Given the description of an element on the screen output the (x, y) to click on. 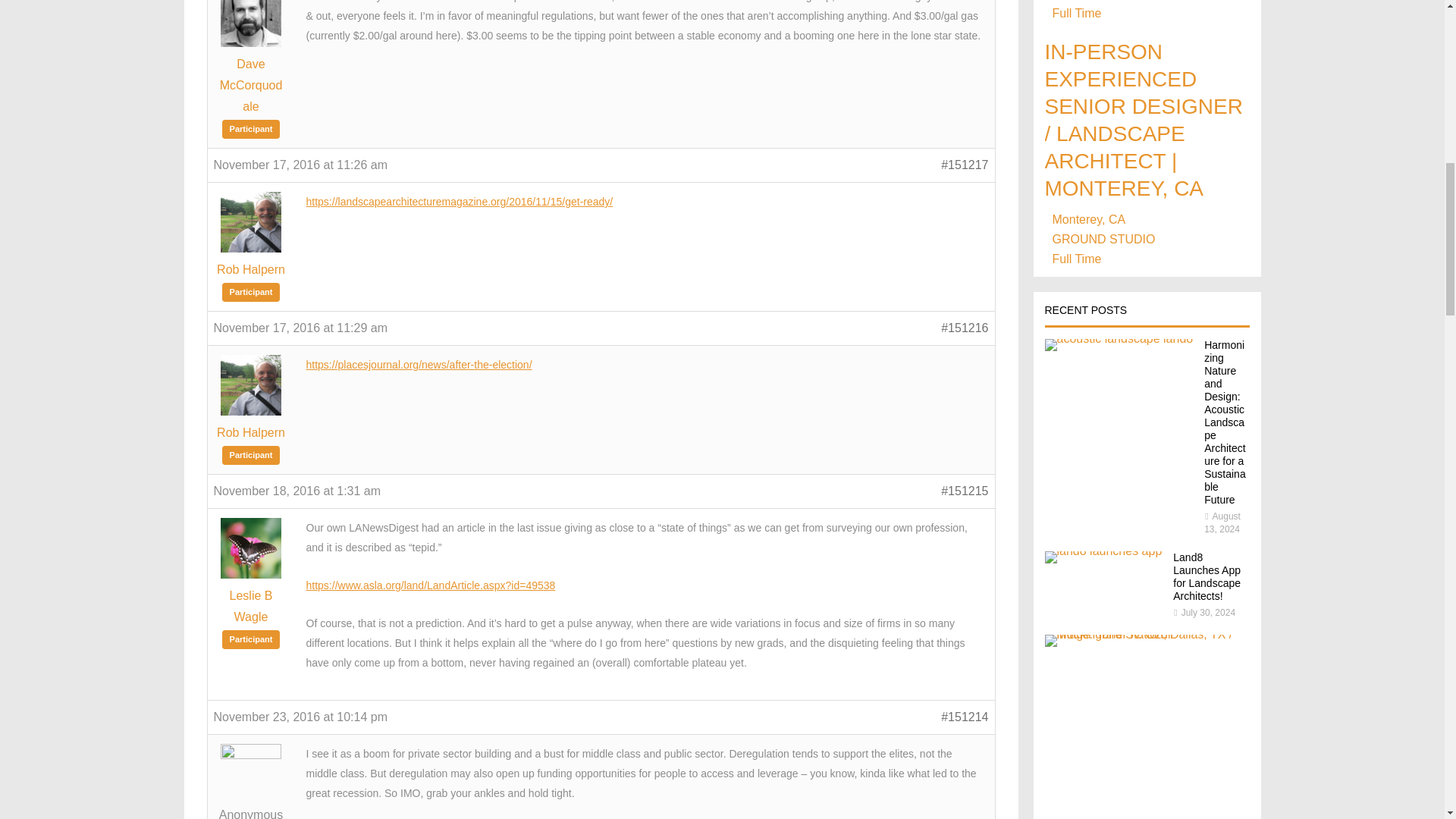
View Rob Halpern's profile (251, 269)
View Leslie B Wagle's profile (251, 606)
View Rob Halpern's profile (251, 432)
View Dave McCorquodale's profile (251, 85)
